Given the description of an element on the screen output the (x, y) to click on. 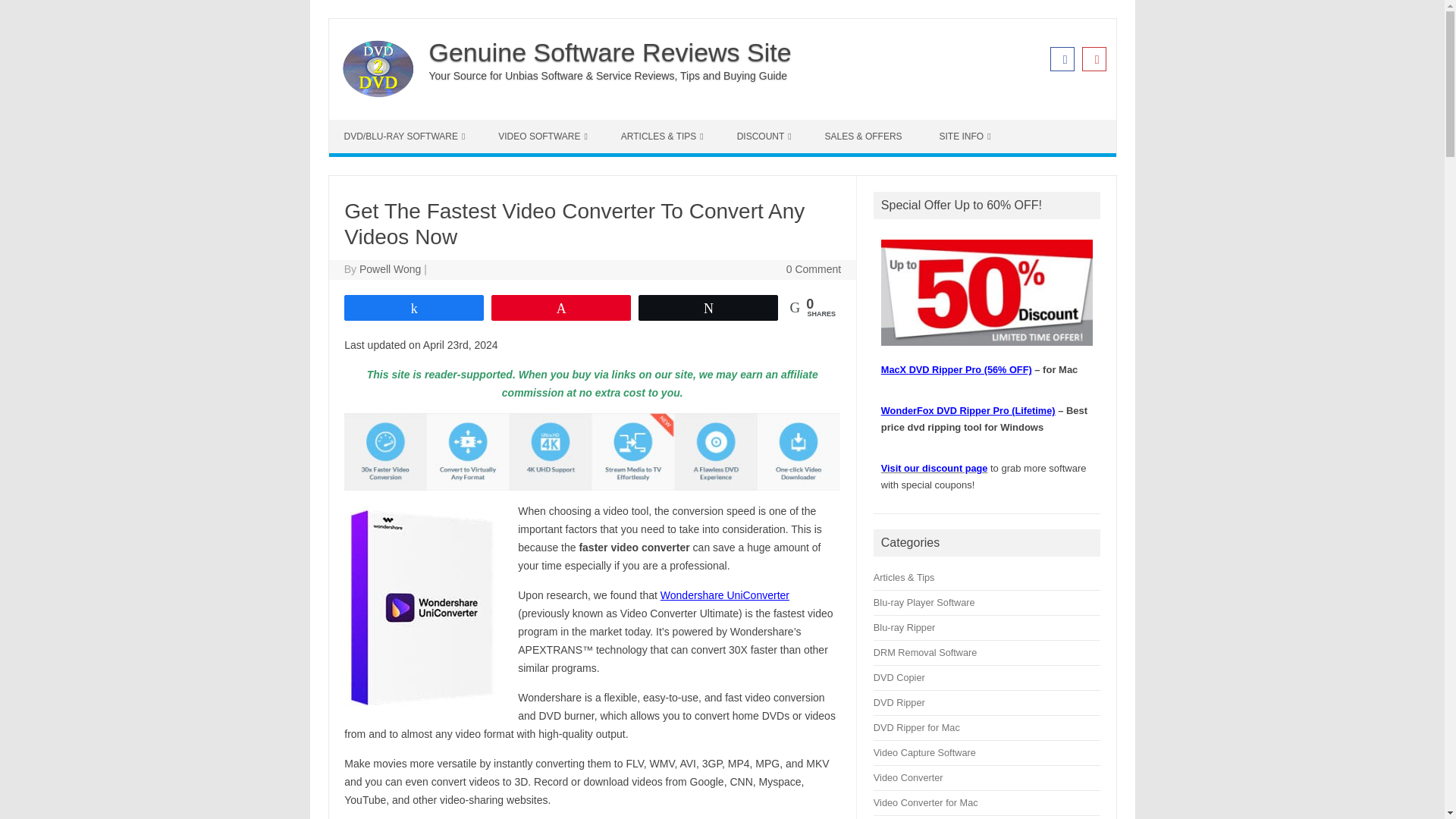
Skip to content (363, 124)
VIDEO SOFTWARE (542, 136)
Genuine Software Reviews Site (376, 93)
Genuine Software Reviews Site (610, 51)
Skip to content (363, 124)
Genuine Software Reviews Site (610, 51)
Posts by Powell Wong (389, 268)
